Given the description of an element on the screen output the (x, y) to click on. 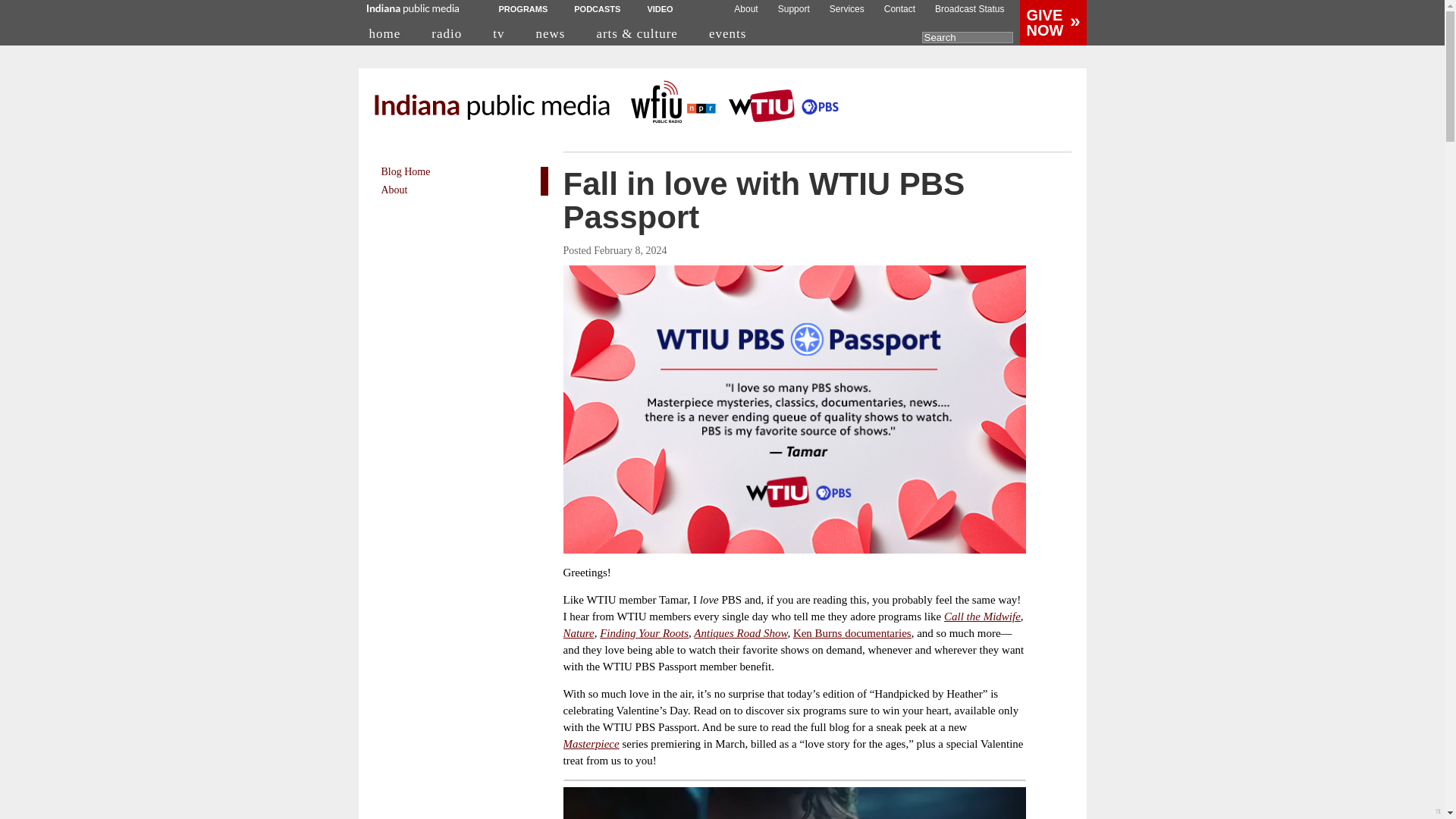
Search (967, 37)
